Given the description of an element on the screen output the (x, y) to click on. 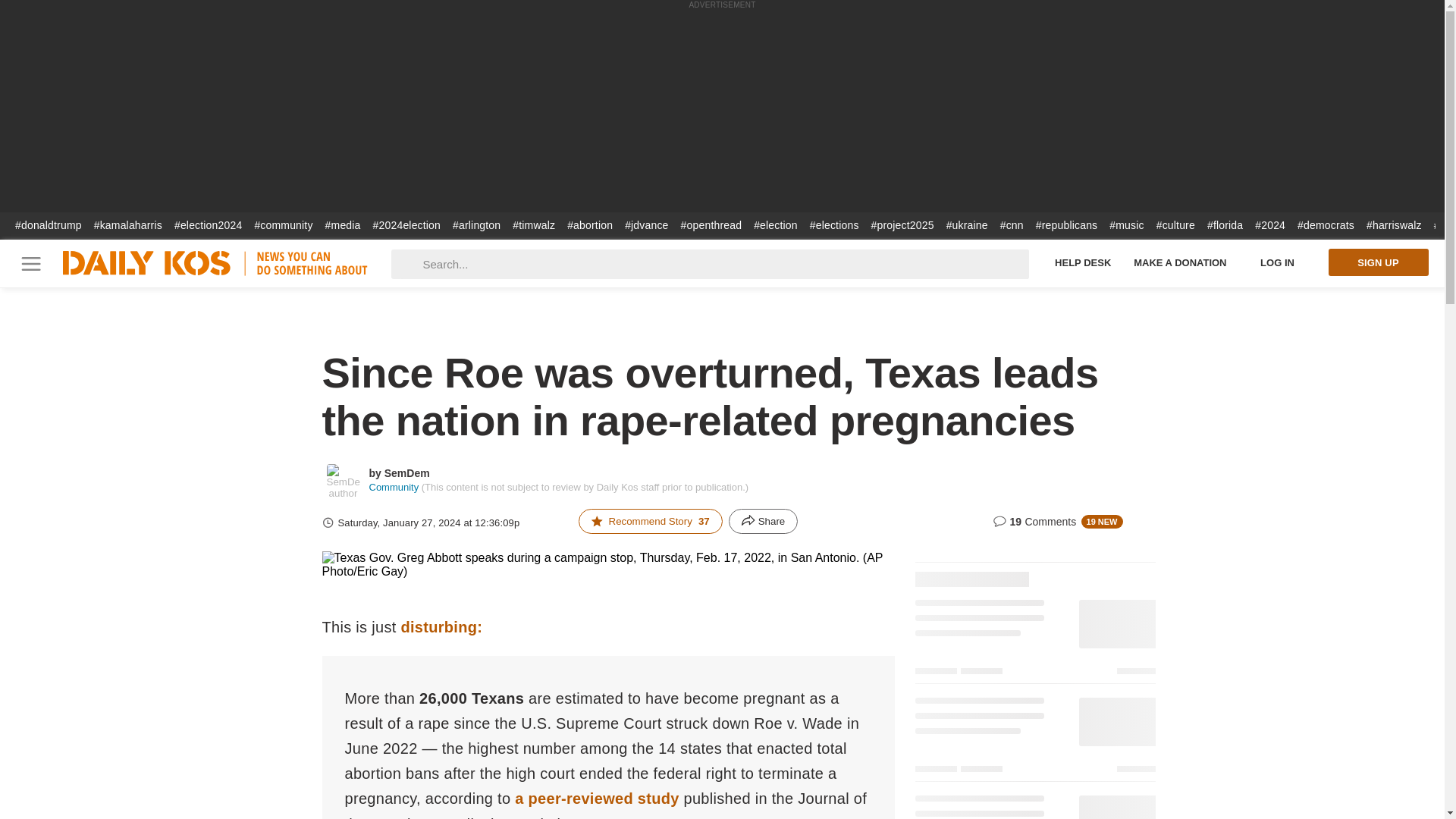
Help Desk (1082, 262)
Loading... (1034, 737)
Make a Donation (1179, 262)
Loading... (1034, 803)
MAKE A DONATION (1179, 262)
Loading... (1034, 569)
Loading... (1034, 639)
